Given the description of an element on the screen output the (x, y) to click on. 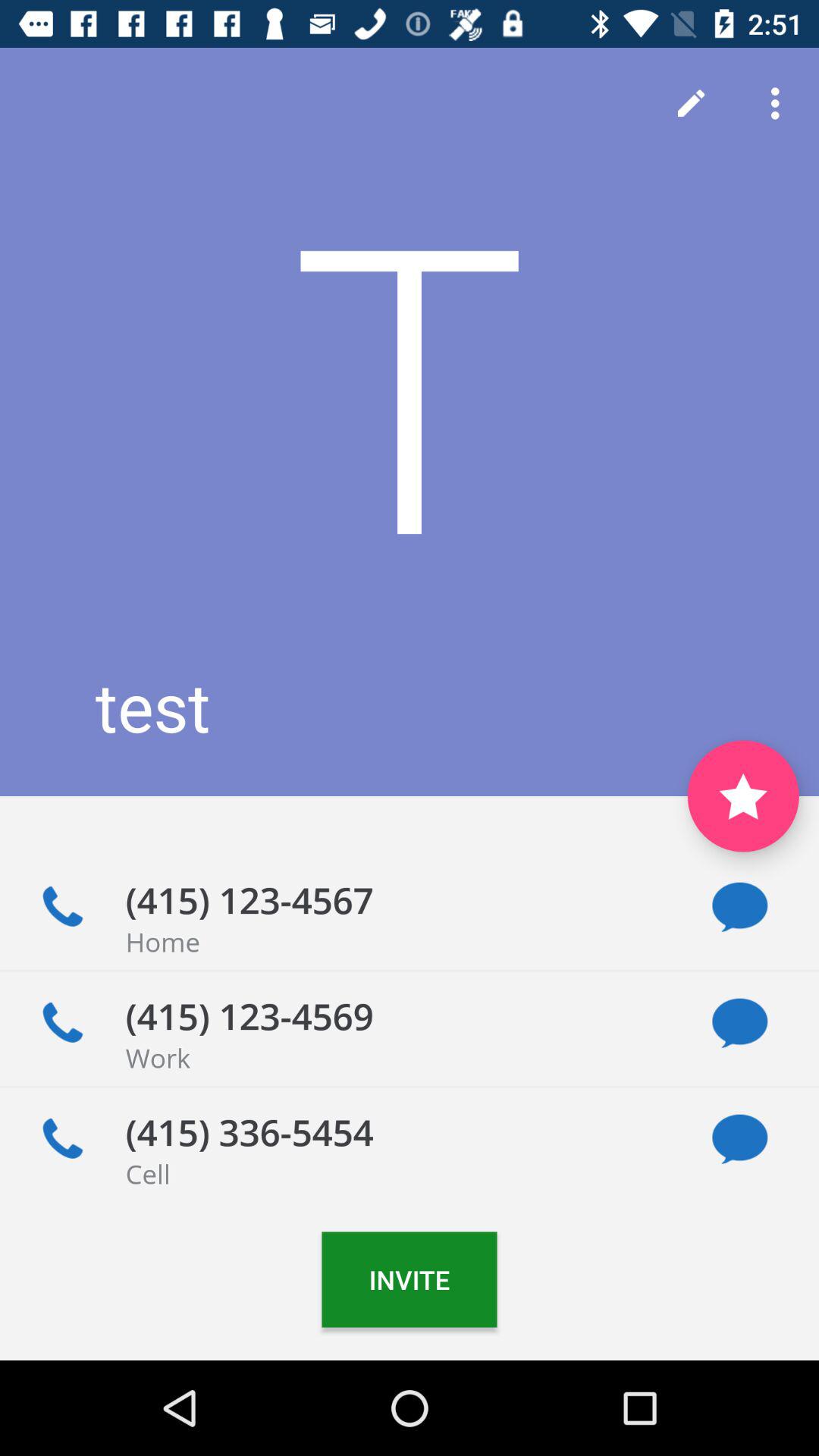
phone icon (62, 1139)
